Given the description of an element on the screen output the (x, y) to click on. 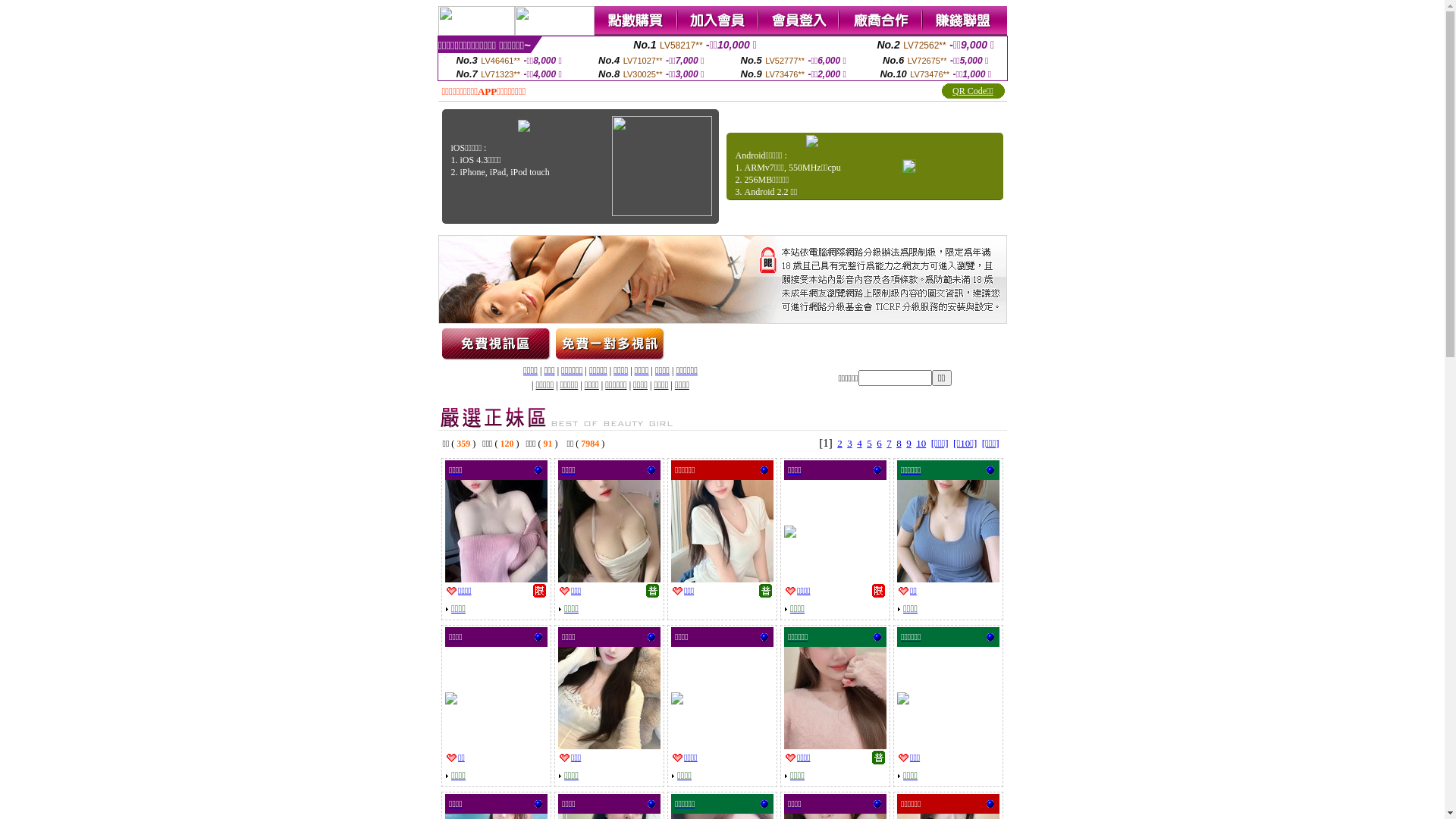
2 Element type: text (839, 442)
6 Element type: text (878, 442)
8 Element type: text (898, 442)
9 Element type: text (908, 442)
4 Element type: text (859, 442)
3 Element type: text (849, 442)
7 Element type: text (888, 442)
10 Element type: text (920, 442)
5 Element type: text (869, 442)
